Given the description of an element on the screen output the (x, y) to click on. 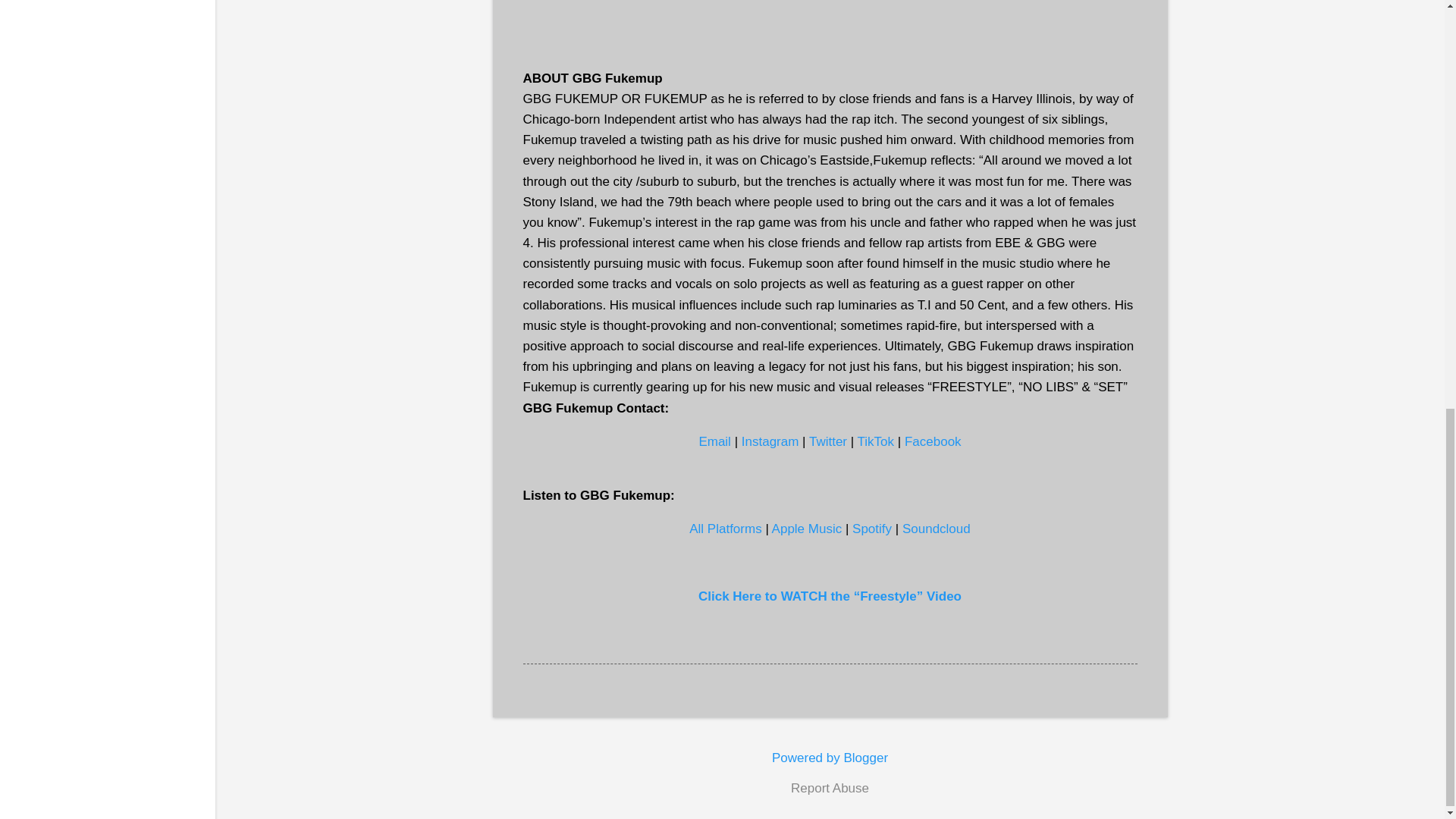
YouTube video player (829, 13)
TikTok (876, 441)
Twitter (828, 441)
Apple Music (807, 528)
Instagram (770, 441)
Email (714, 441)
Powered by Blogger (829, 757)
Facebook (932, 441)
Soundcloud (936, 528)
Report Abuse (829, 788)
All Platforms (724, 528)
Spotify (871, 528)
